Given the description of an element on the screen output the (x, y) to click on. 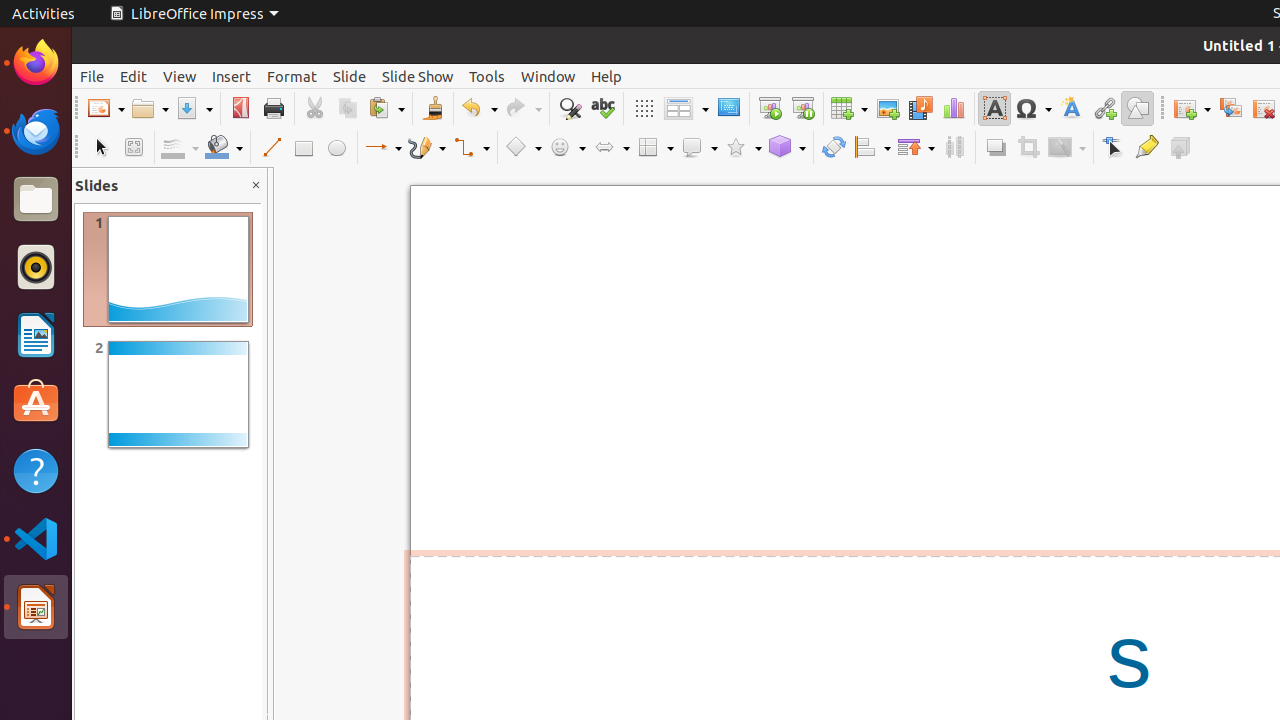
Zoom & Pan Element type: push-button (133, 147)
Insert Element type: menu (231, 76)
Slide Show Element type: menu (417, 76)
Open Element type: push-button (150, 108)
Paste Element type: push-button (386, 108)
